Given the description of an element on the screen output the (x, y) to click on. 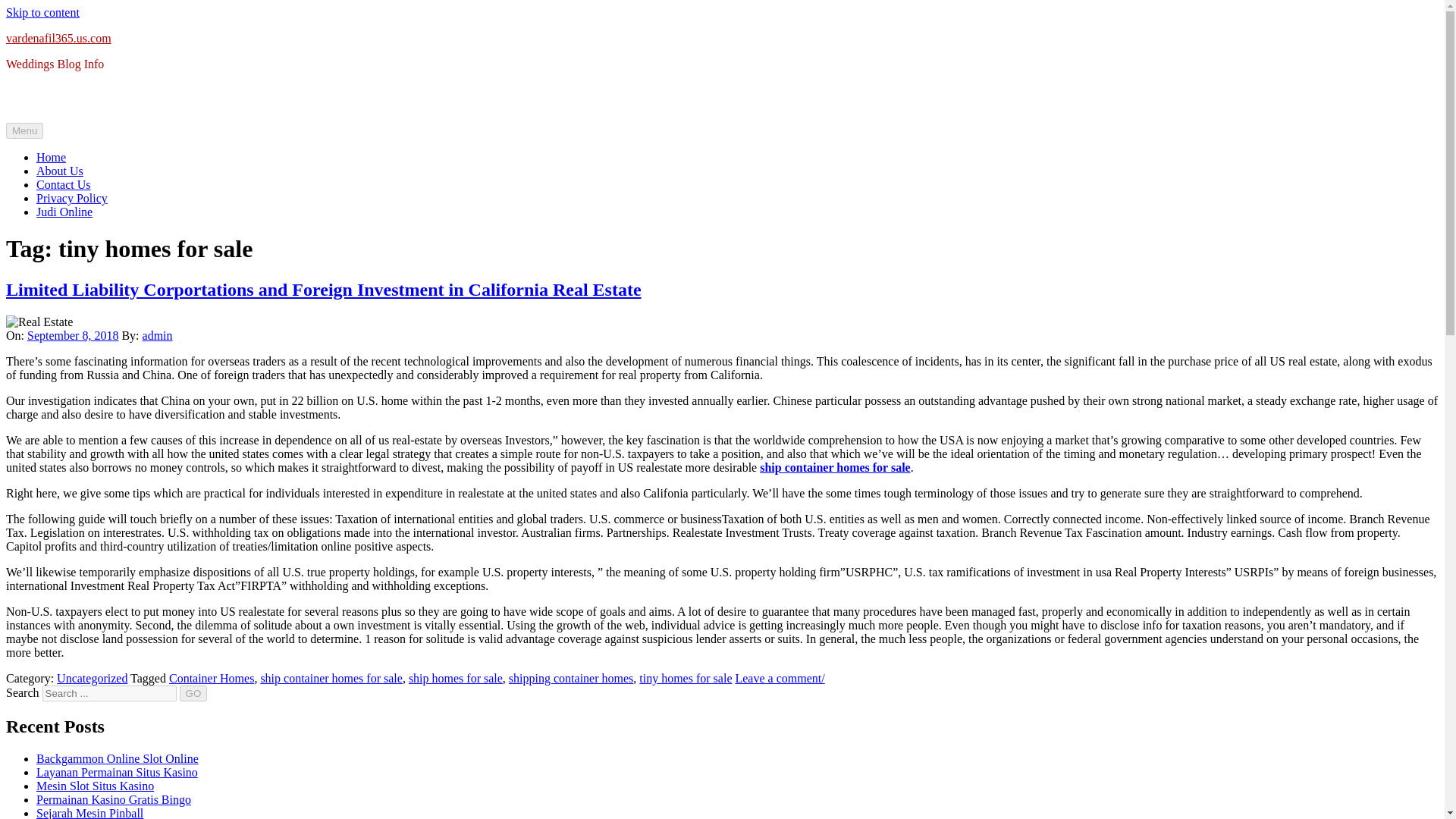
Layanan Permainan Situs Kasino (117, 771)
Menu (24, 130)
Mesin Slot Situs Kasino (95, 785)
Permainan Kasino Gratis Bingo (113, 799)
GO (193, 693)
Contact Us (63, 184)
Backgammon Online Slot Online (117, 758)
ship homes for sale (455, 677)
Judi Online (64, 211)
Privacy Policy (71, 197)
vardenafil365.us.com (58, 38)
September 8, 2018 (72, 335)
Skip to content (42, 11)
Container Homes (210, 677)
ship container homes for sale (835, 467)
